Given the description of an element on the screen output the (x, y) to click on. 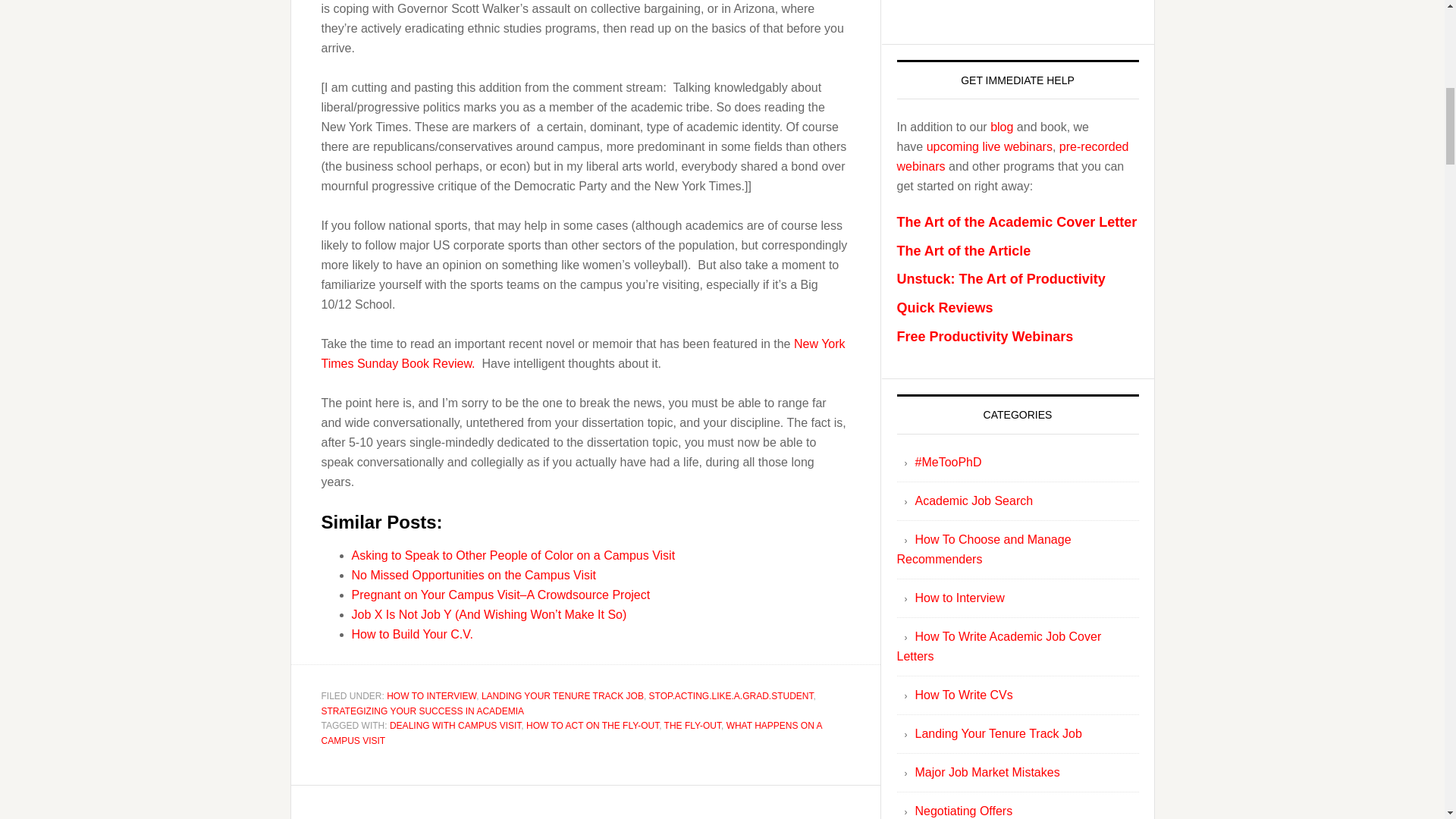
Asking to Speak to Other People of Color on a Campus Visit (513, 554)
The Book (1017, 6)
No Missed Opportunities on the Campus Visit (474, 574)
How to Build Your C.V. (412, 634)
